Given the description of an element on the screen output the (x, y) to click on. 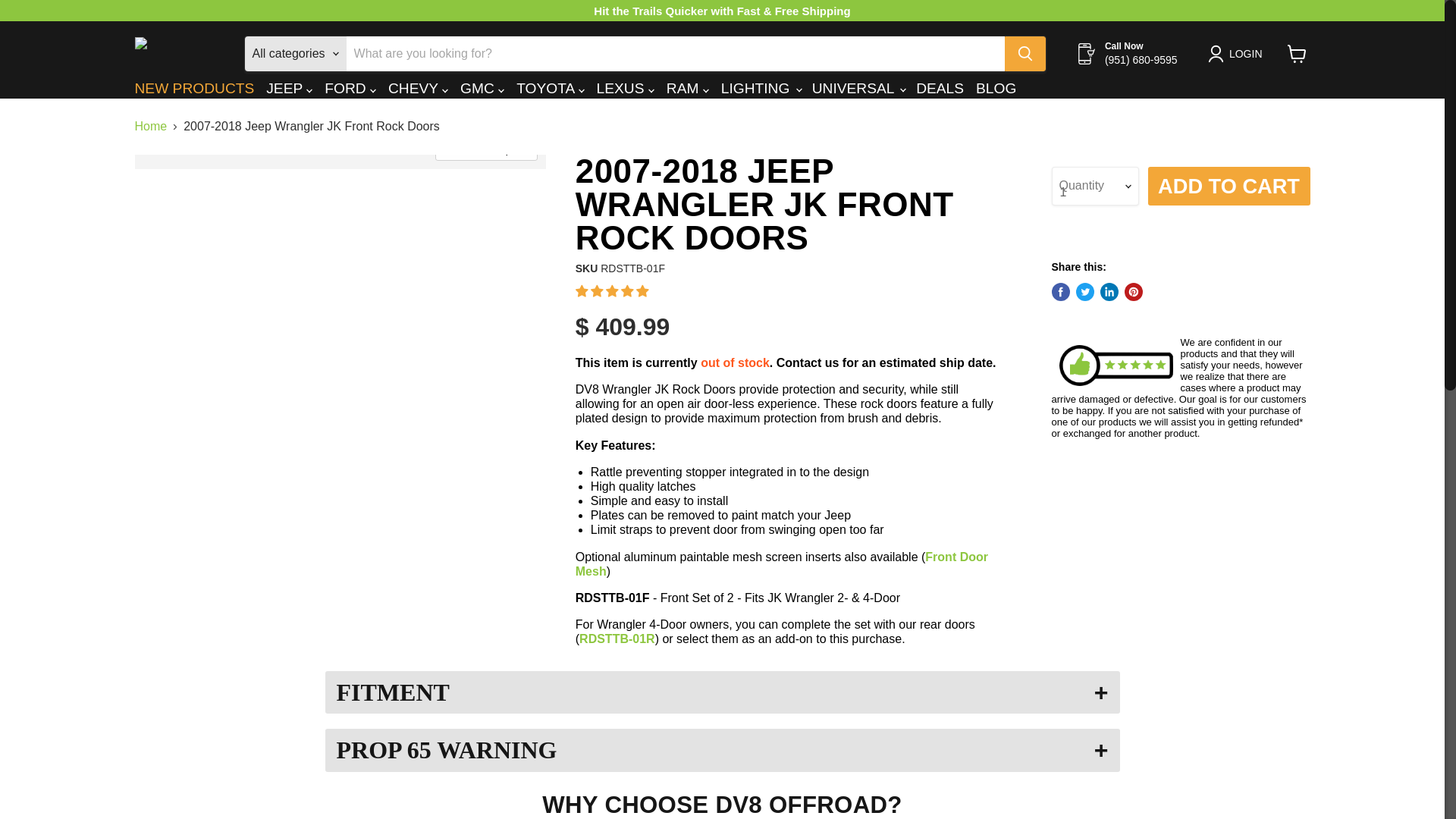
Quality Guaranteed (1115, 364)
NEW PRODUCTS (194, 88)
View cart (1296, 53)
LOGIN (1245, 54)
